Given the description of an element on the screen output the (x, y) to click on. 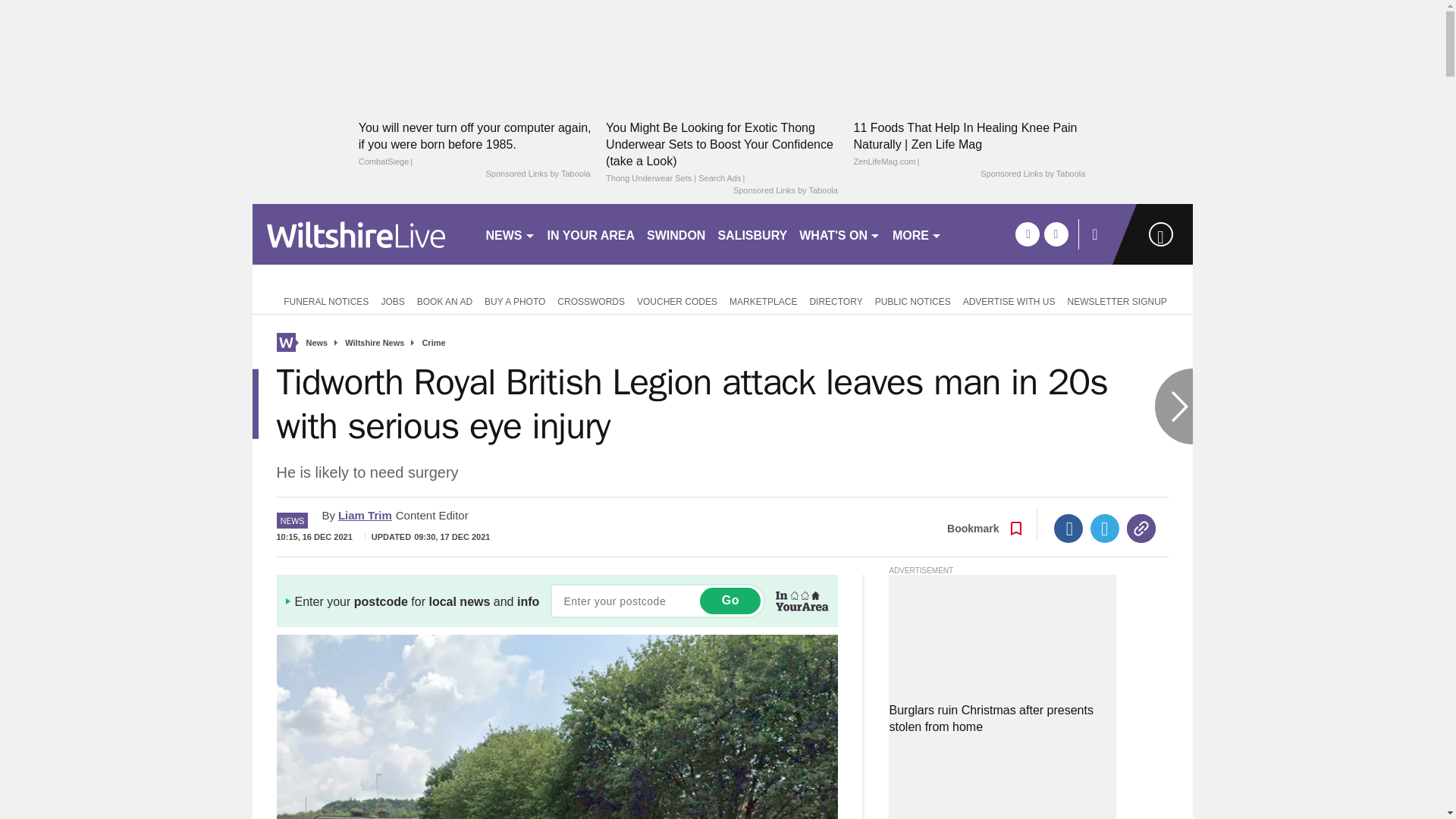
Sponsored Links by Taboola (1031, 174)
IN YOUR AREA (591, 233)
facebook (1026, 233)
WHAT'S ON (839, 233)
Twitter (1104, 528)
wiltshirelive (361, 233)
SWINDON (675, 233)
Sponsored Links by Taboola (536, 174)
Go (730, 601)
Sponsored Links by Taboola (785, 190)
SALISBURY (752, 233)
twitter (1055, 233)
MORE (916, 233)
NEWS (509, 233)
